Given the description of an element on the screen output the (x, y) to click on. 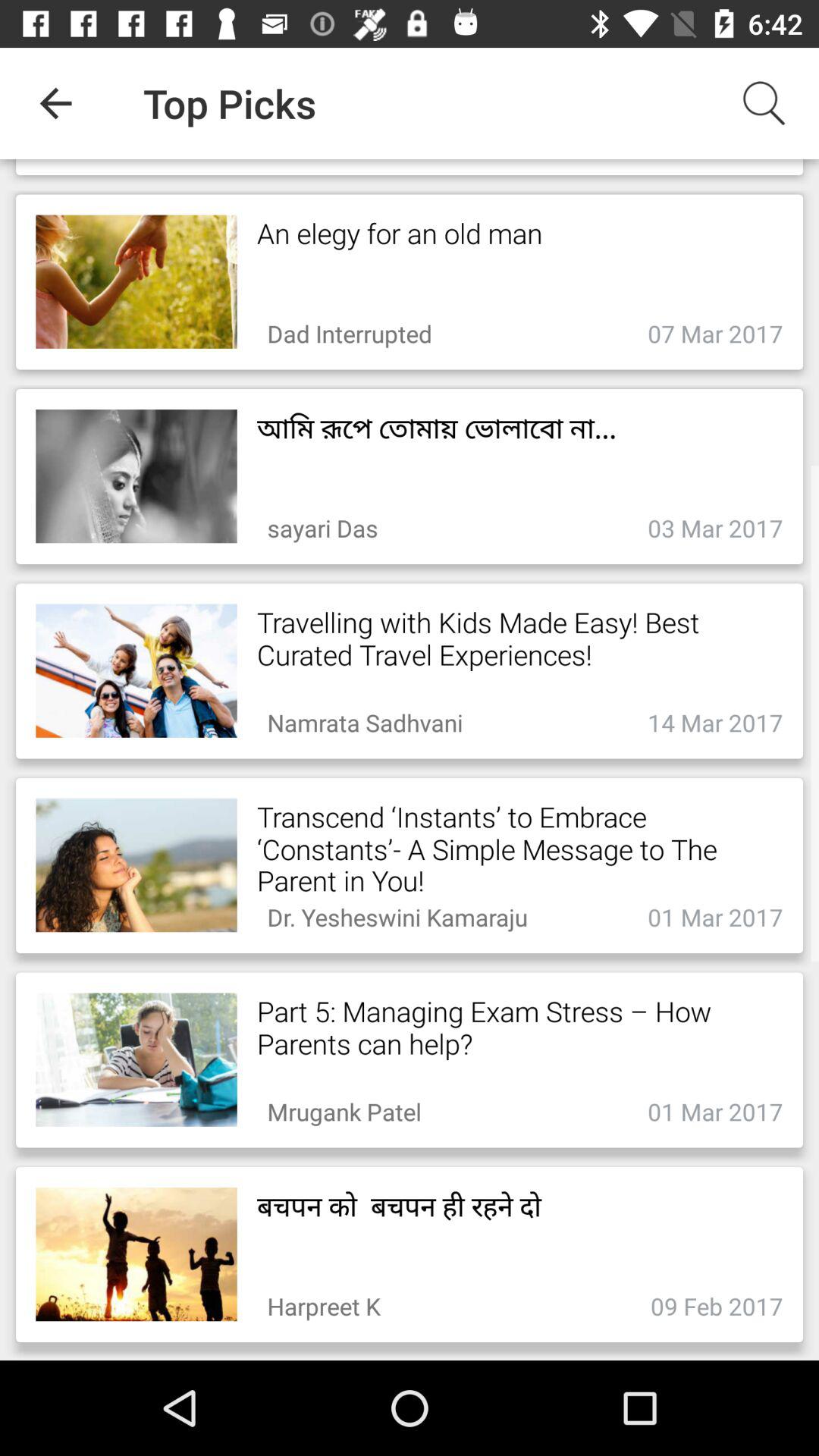
launch item next to the top picks app (55, 103)
